Given the description of an element on the screen output the (x, y) to click on. 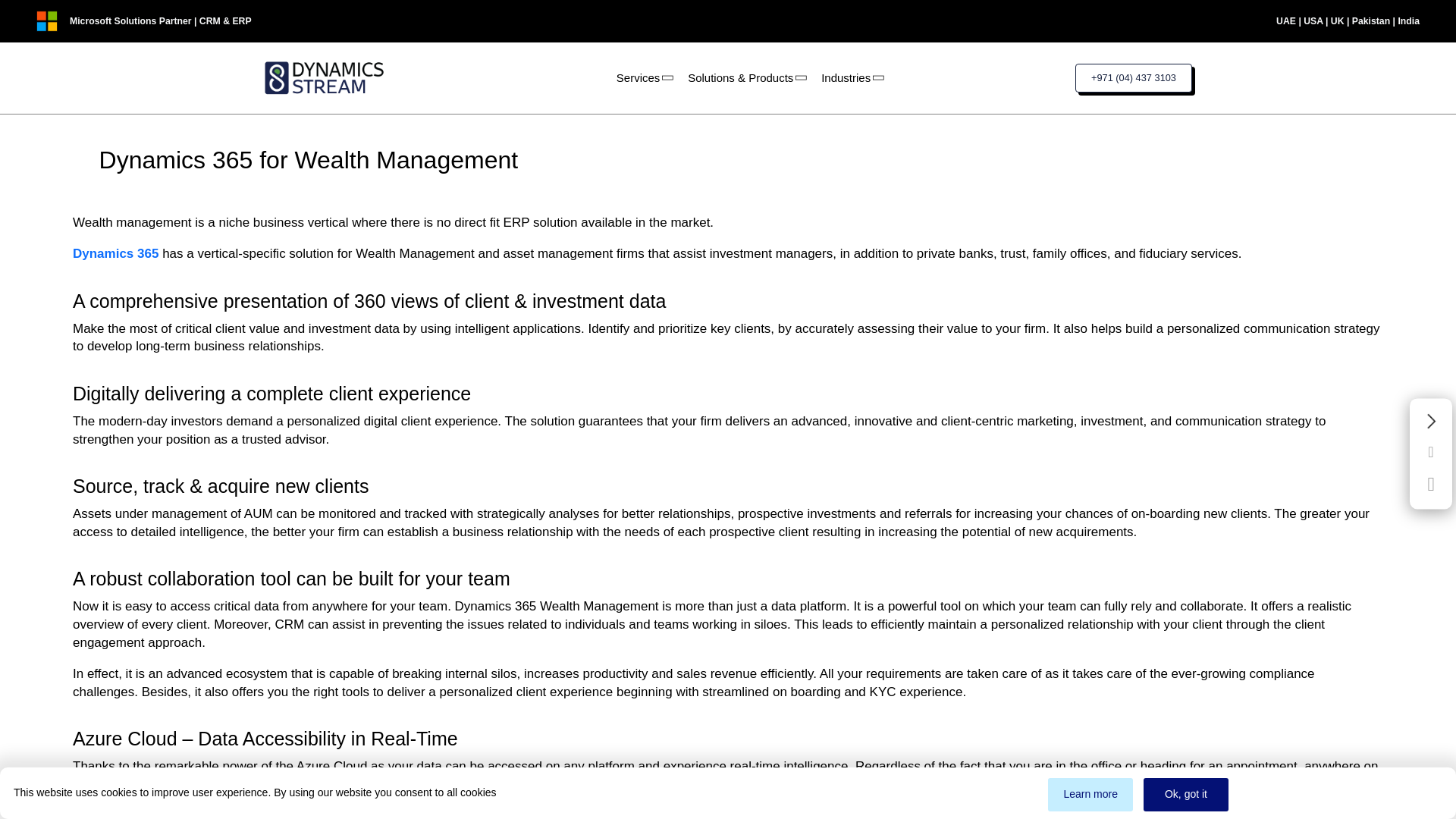
Industries (850, 77)
Services (642, 77)
